Given the description of an element on the screen output the (x, y) to click on. 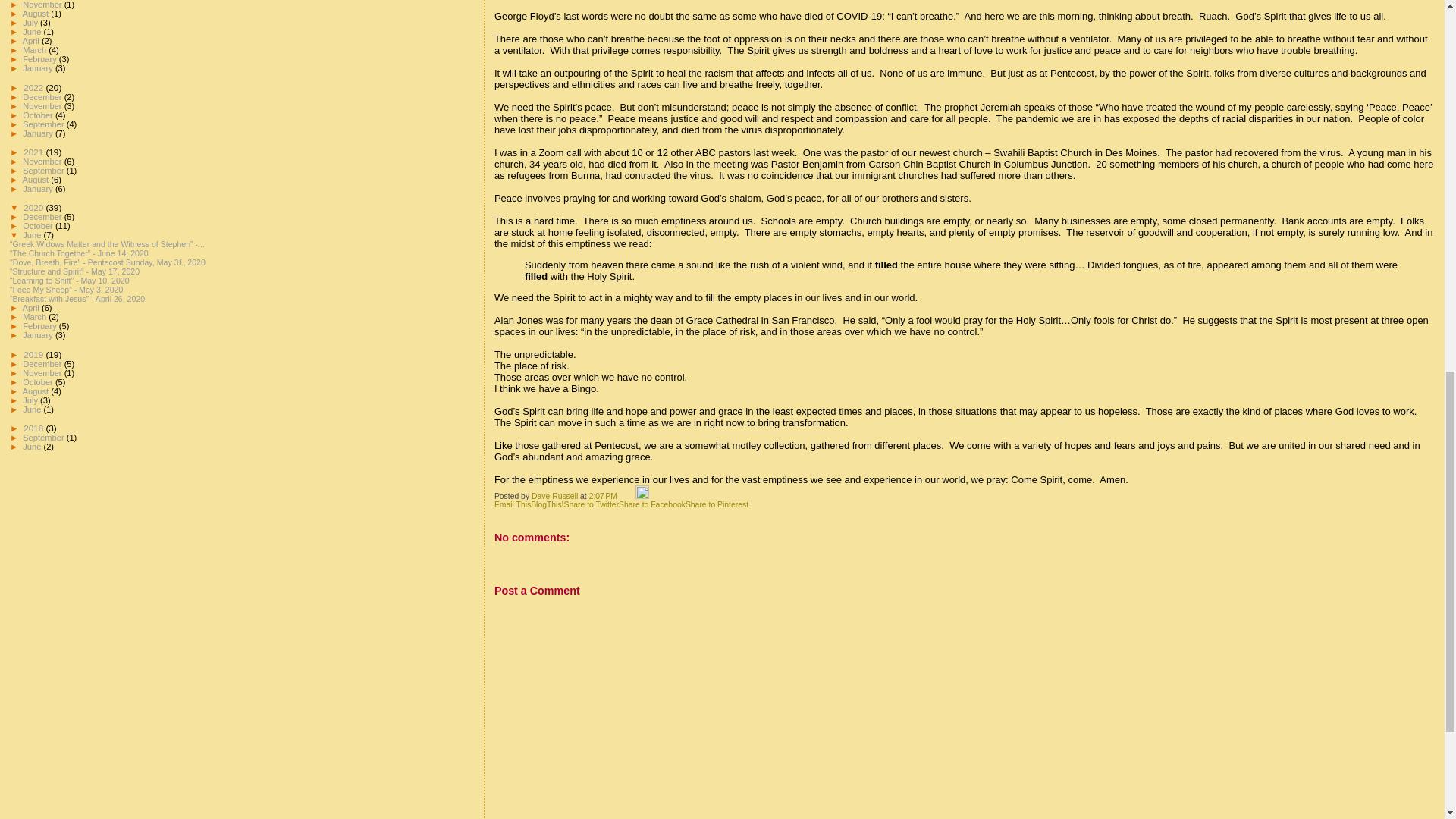
Email This (513, 504)
Edit Post (641, 496)
Email This (513, 504)
Dave Russell (555, 496)
Share to Facebook (651, 504)
Share to Facebook (651, 504)
BlogThis! (547, 504)
Share to Twitter (592, 504)
BlogThis! (547, 504)
Email Post (627, 496)
Share to Pinterest (716, 504)
permanent link (603, 496)
Share to Pinterest (716, 504)
Share to Twitter (592, 504)
